Given the description of an element on the screen output the (x, y) to click on. 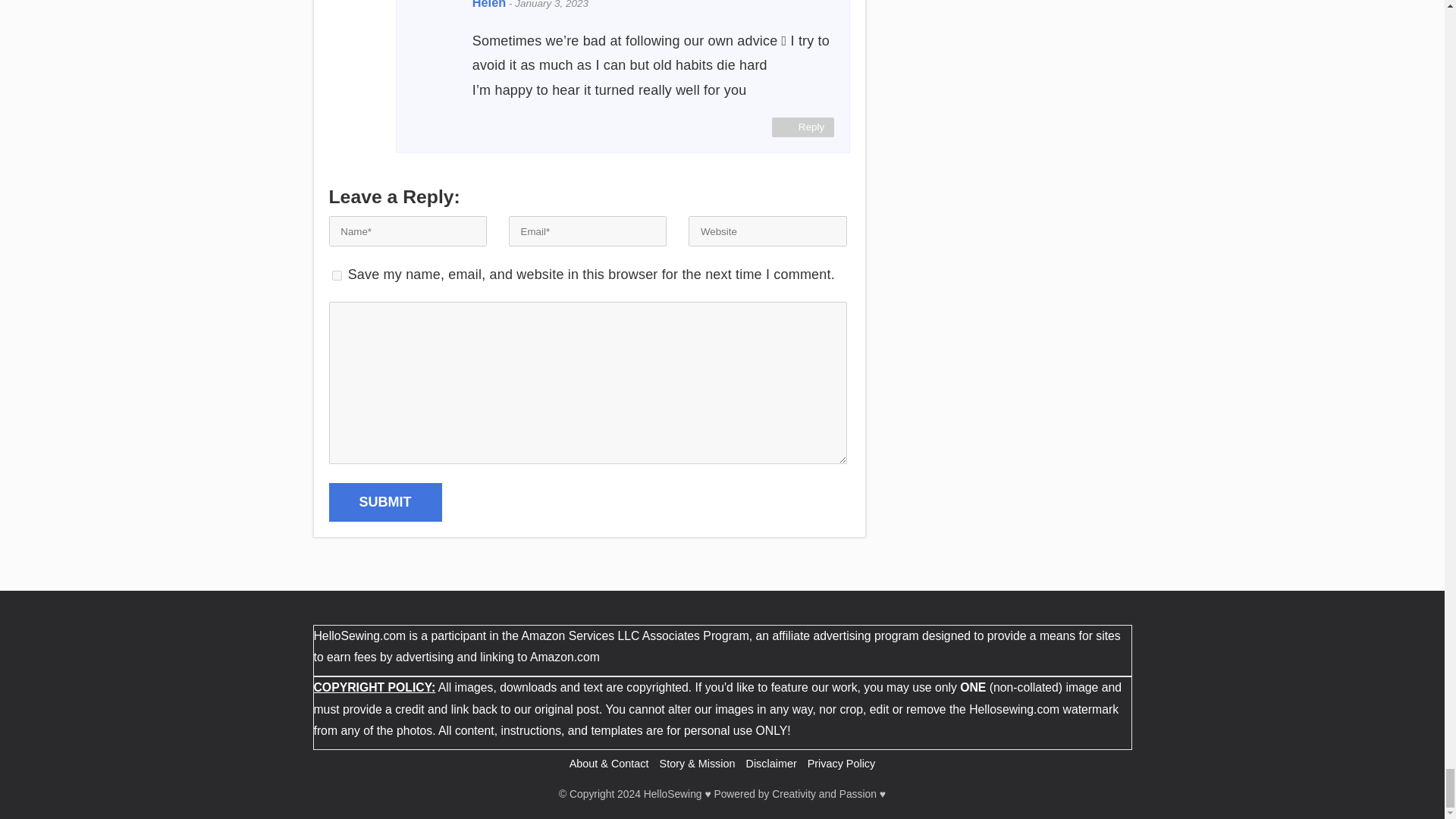
yes (336, 275)
SUBMIT (385, 502)
